Given the description of an element on the screen output the (x, y) to click on. 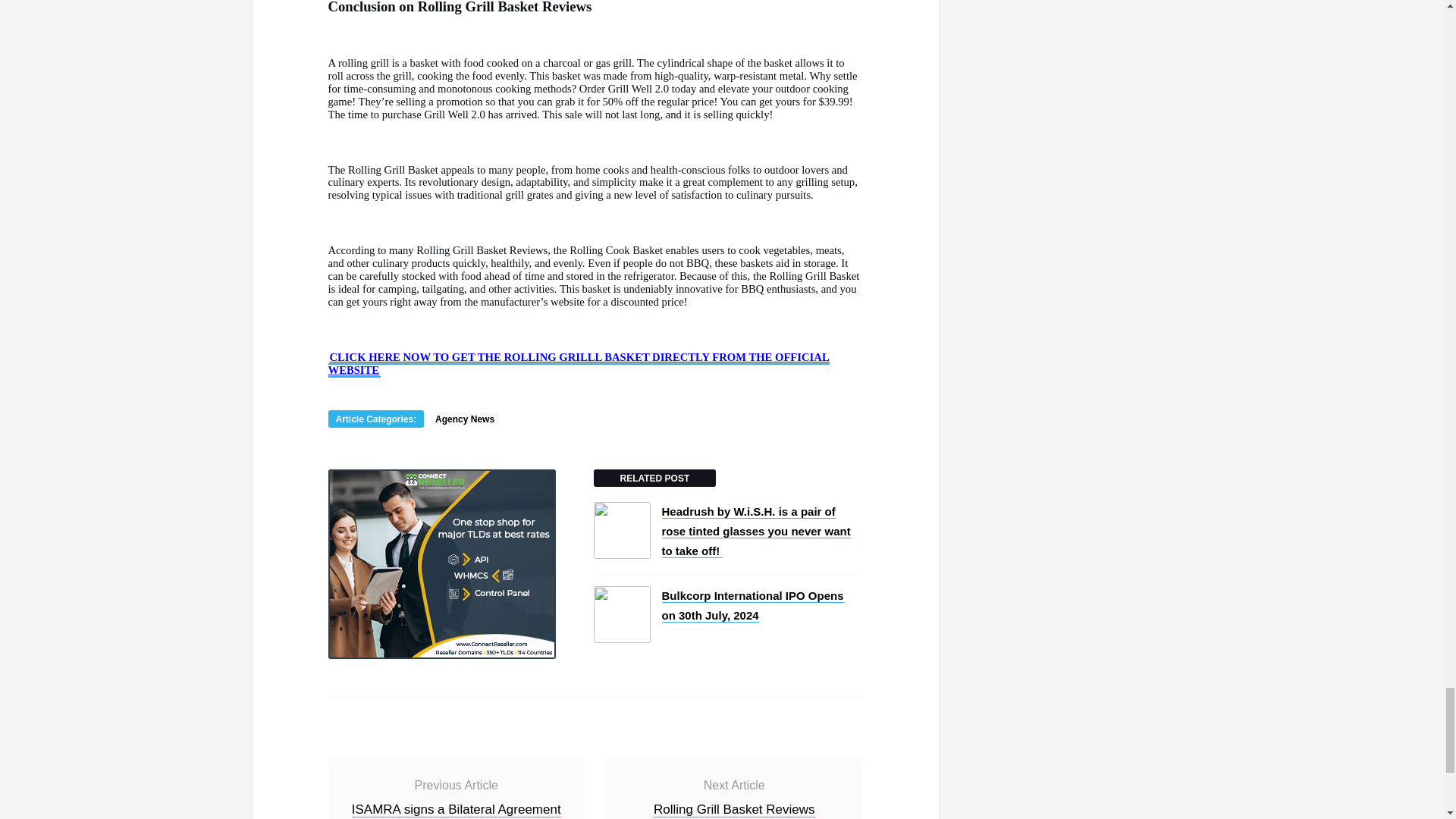
Agency News (464, 418)
Bulkcorp International IPO Opens on 30th July, 2024 (752, 605)
